Given the description of an element on the screen output the (x, y) to click on. 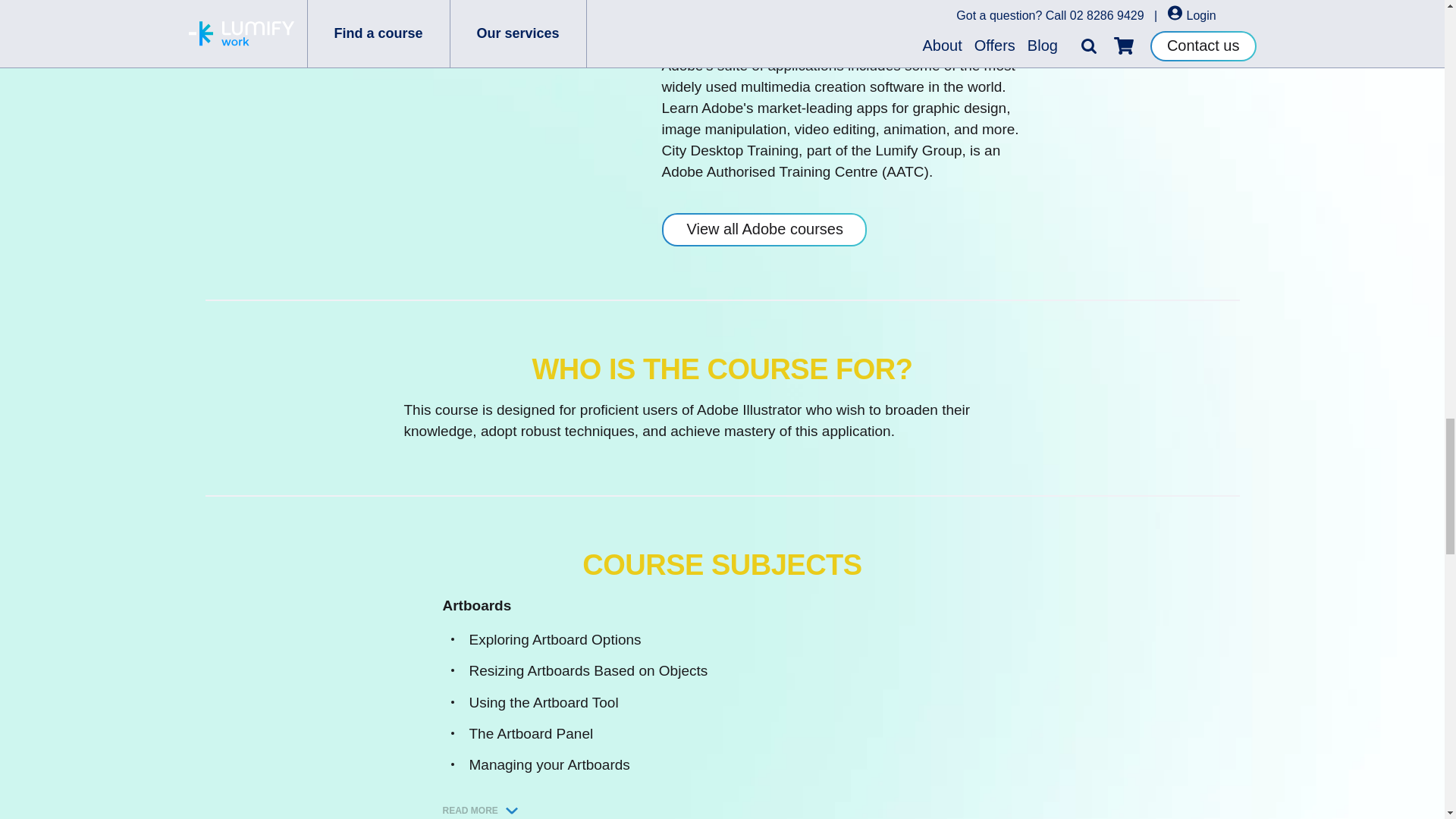
READ MORE (481, 809)
View all Adobe courses (763, 229)
